Given the description of an element on the screen output the (x, y) to click on. 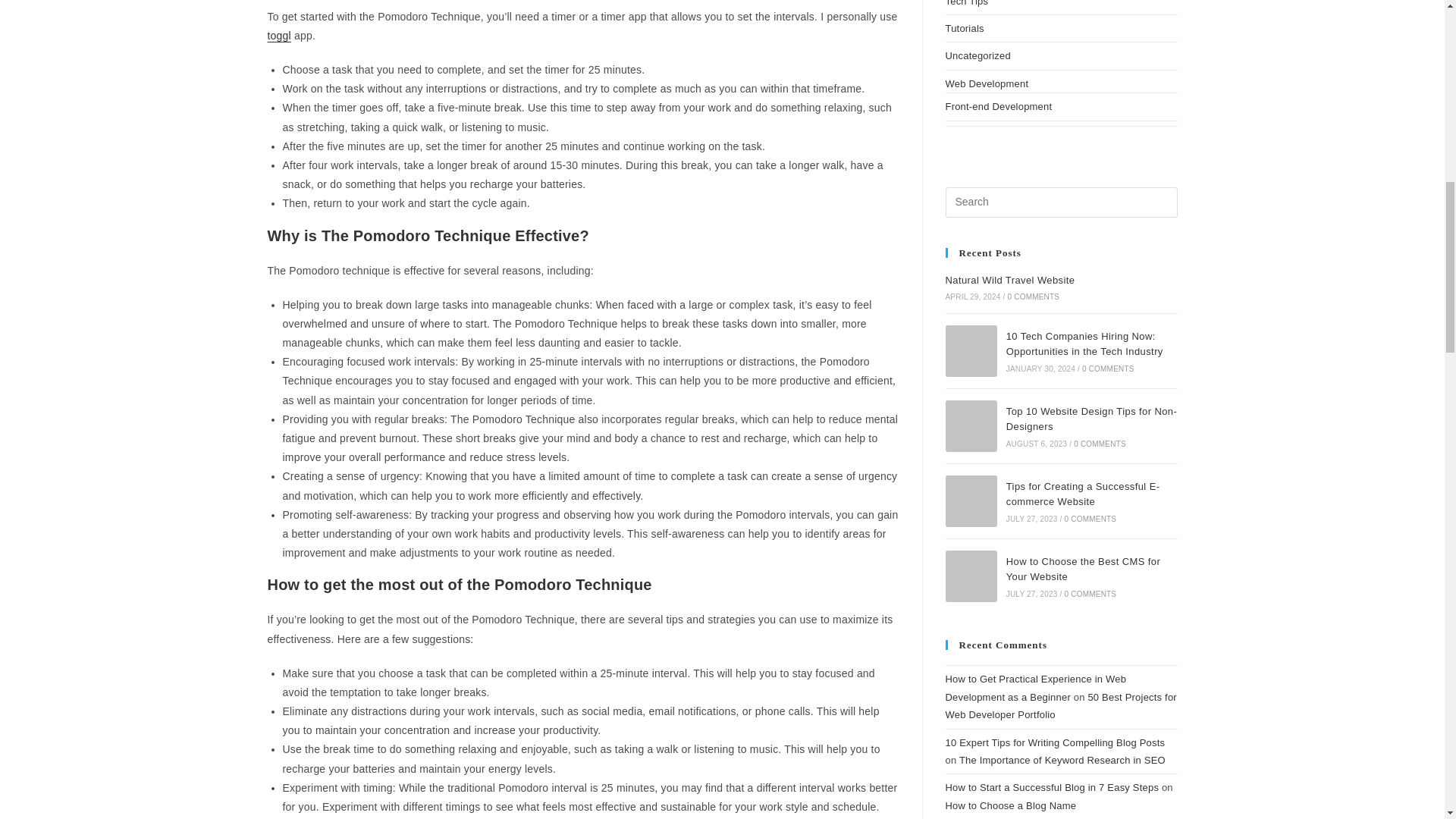
How to Choose the Best CMS for Your Website (969, 575)
Tips for Creating a Successful E-commerce Website (969, 501)
toggl (277, 35)
Top 10 Website Design Tips for Non-Designers (969, 426)
